Given the description of an element on the screen output the (x, y) to click on. 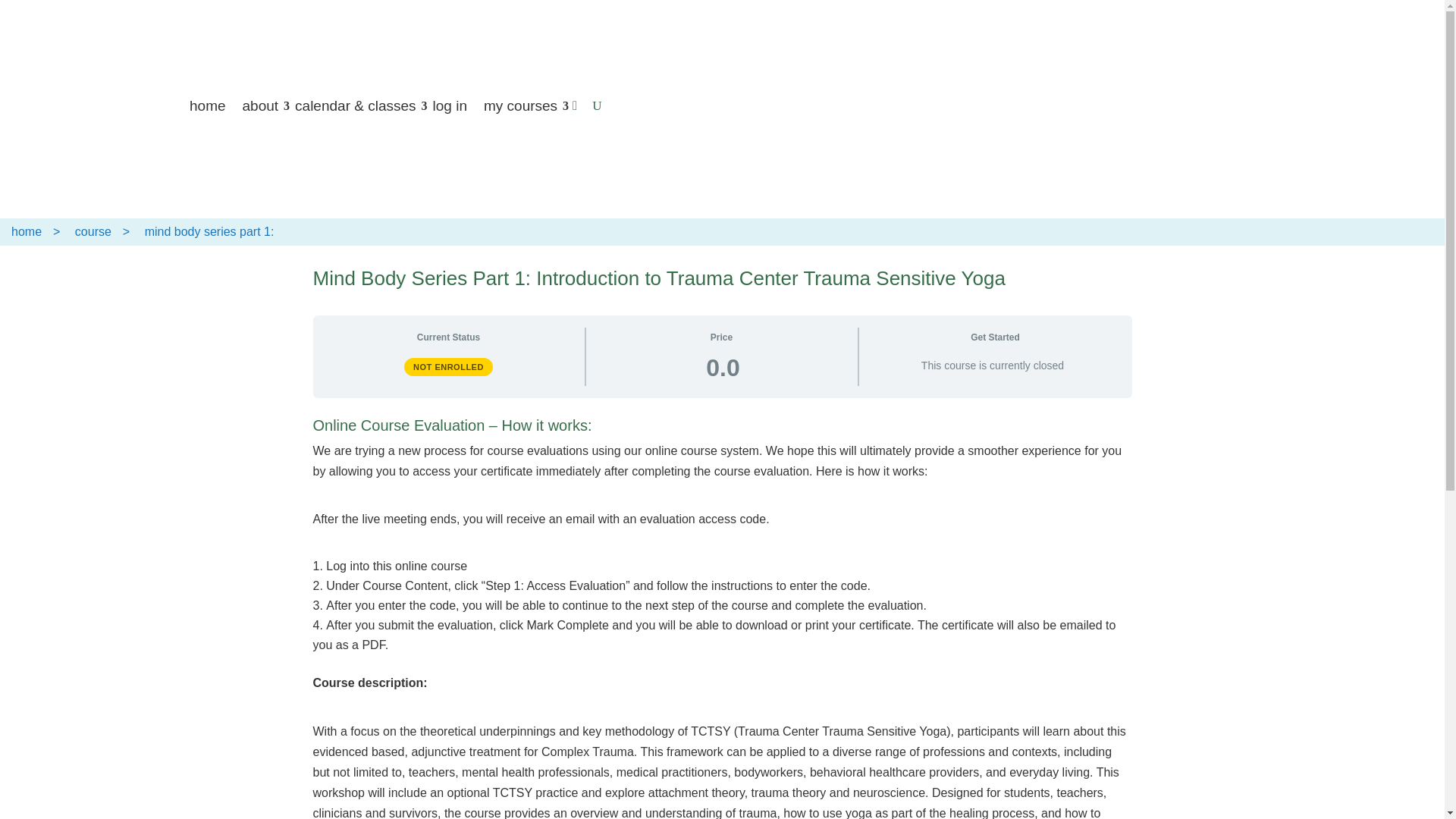
Course (92, 231)
mind body series part 1: (209, 231)
Home (26, 231)
course (92, 231)
home (26, 231)
